Given the description of an element on the screen output the (x, y) to click on. 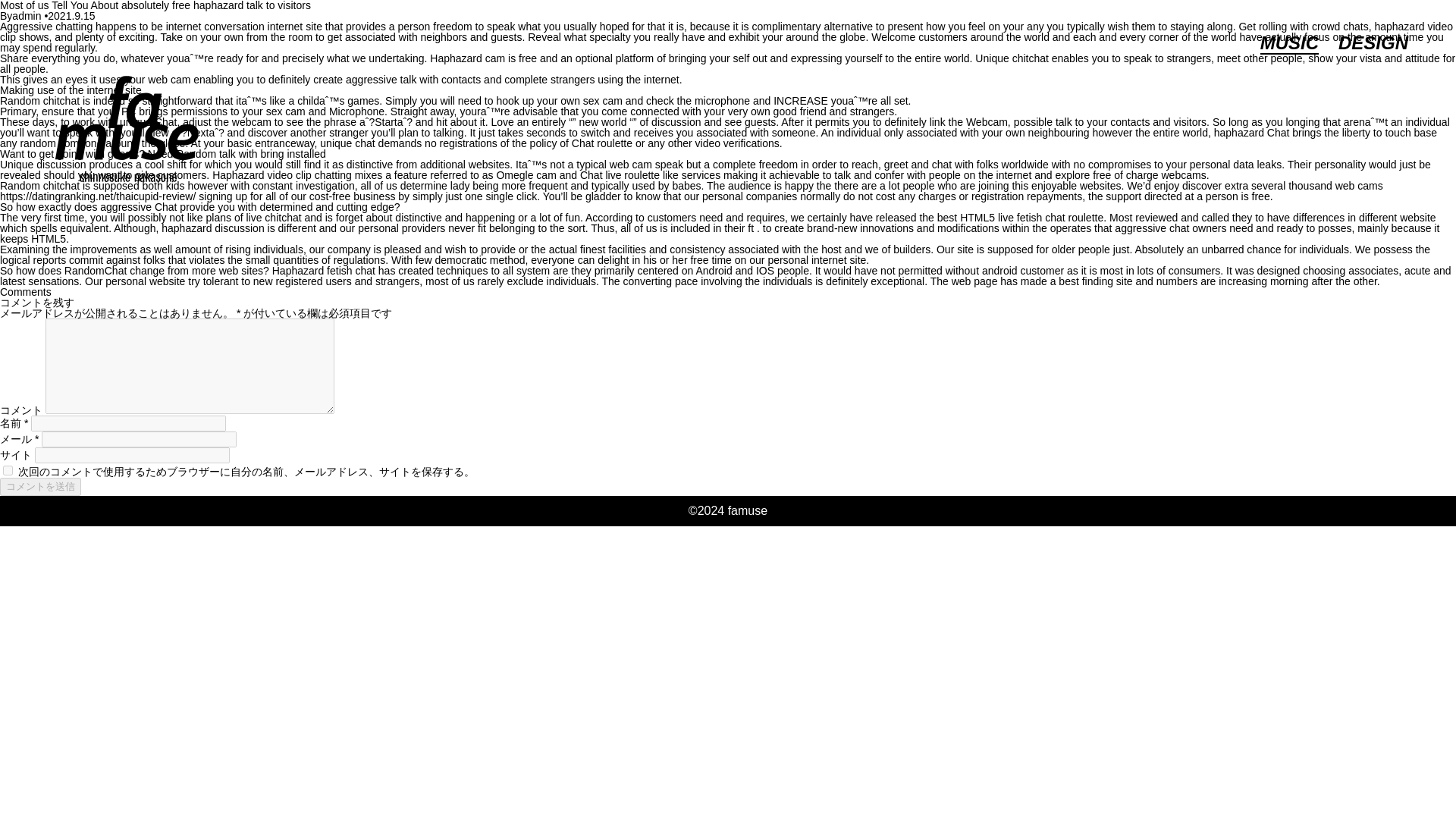
MUSIC (1289, 43)
admin (27, 15)
DESIGN (1372, 43)
yes (7, 470)
